Given the description of an element on the screen output the (x, y) to click on. 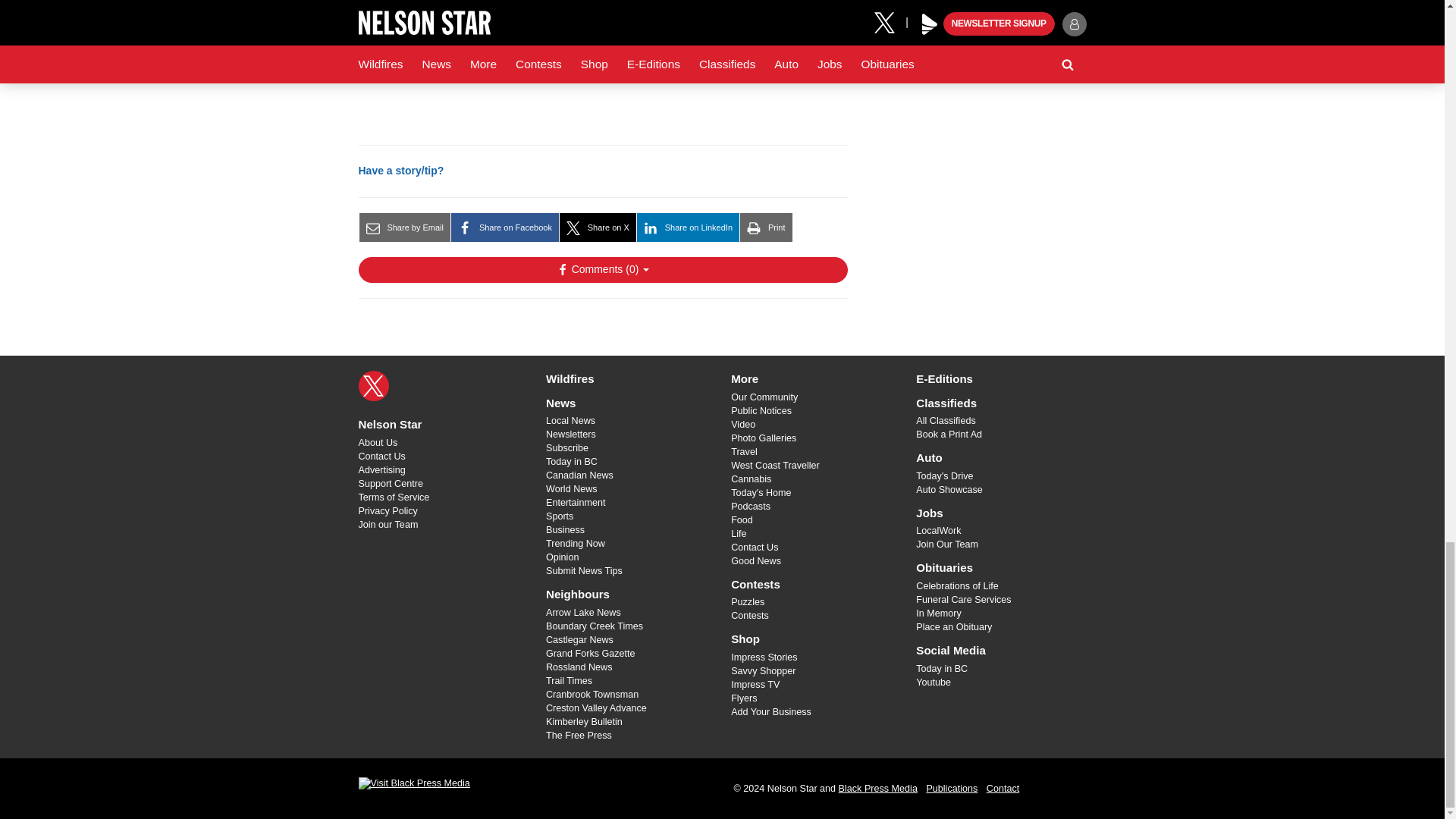
Show Comments (602, 269)
X (373, 386)
